Given the description of an element on the screen output the (x, y) to click on. 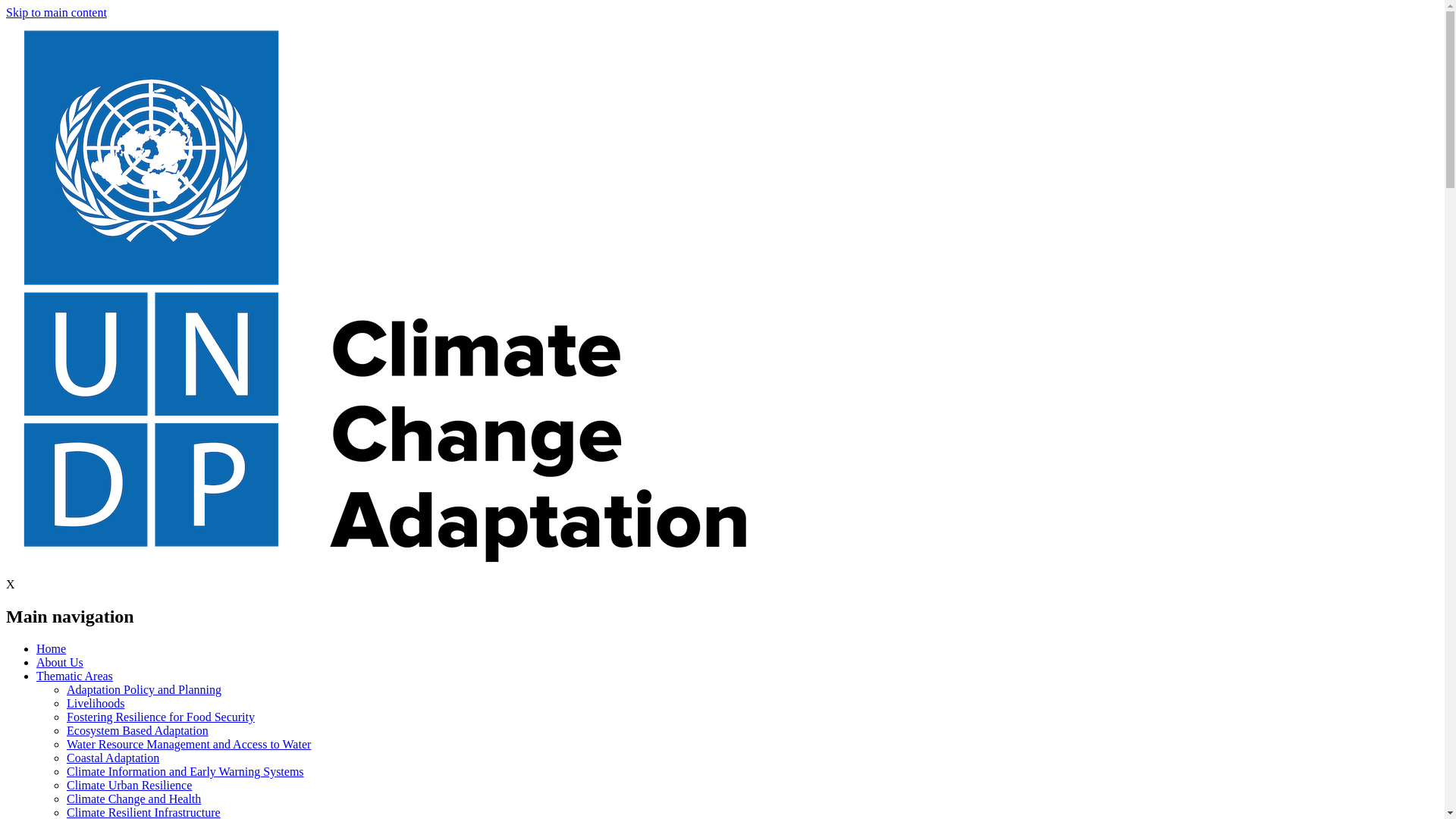
Water Resource Management and Access to Water (188, 744)
About Us (59, 662)
Skip to main content (55, 11)
Climate Information and Early Warning Systems (185, 771)
Home (50, 648)
Thematic Areas (74, 675)
Fostering Resilience for Food Security (160, 716)
Ecosystem Based Adaptation (137, 730)
Climate Urban Resilience (129, 784)
Climate Change and Health (133, 798)
